Given the description of an element on the screen output the (x, y) to click on. 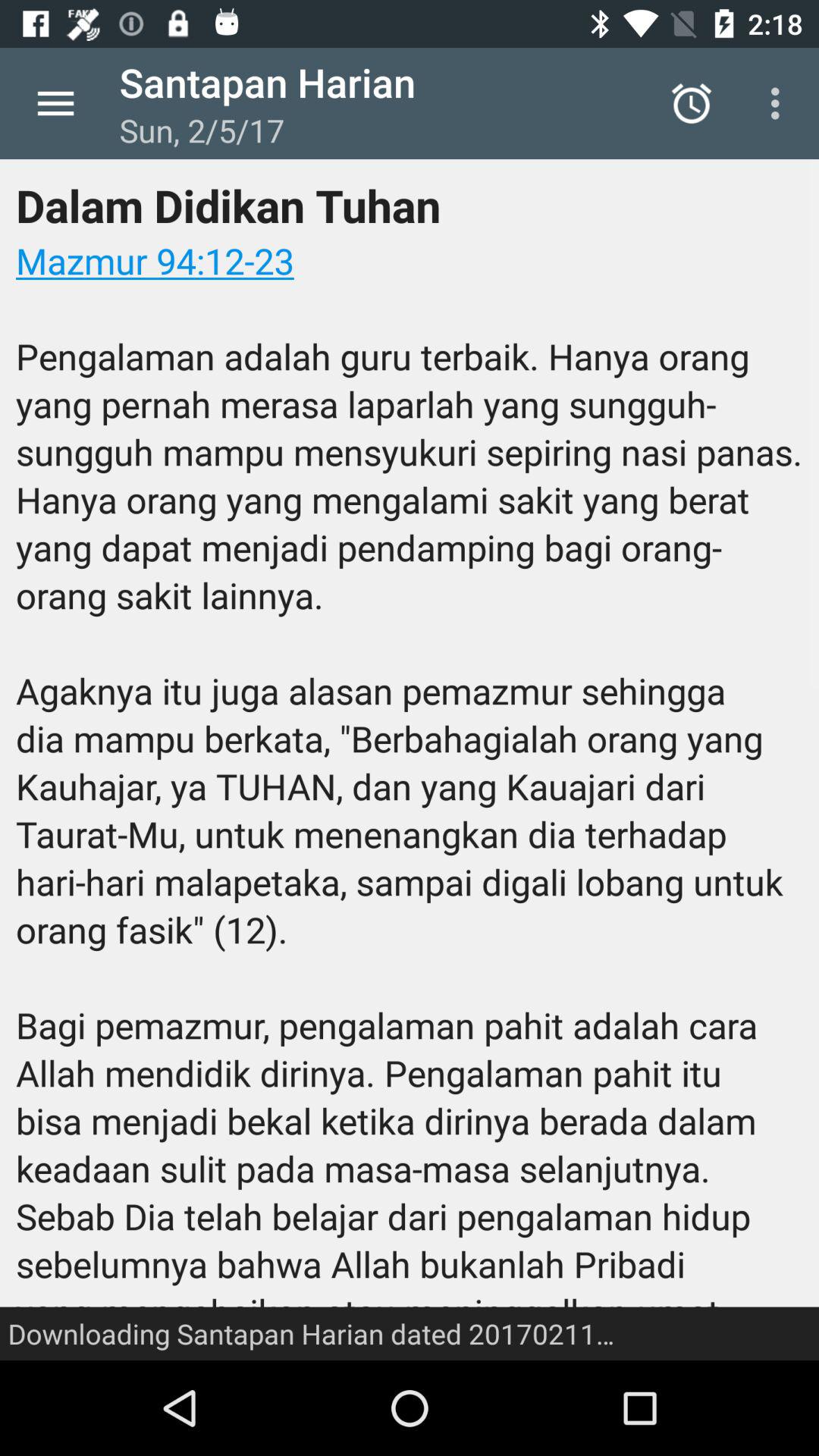
tap icon next to santapan harian item (55, 103)
